Given the description of an element on the screen output the (x, y) to click on. 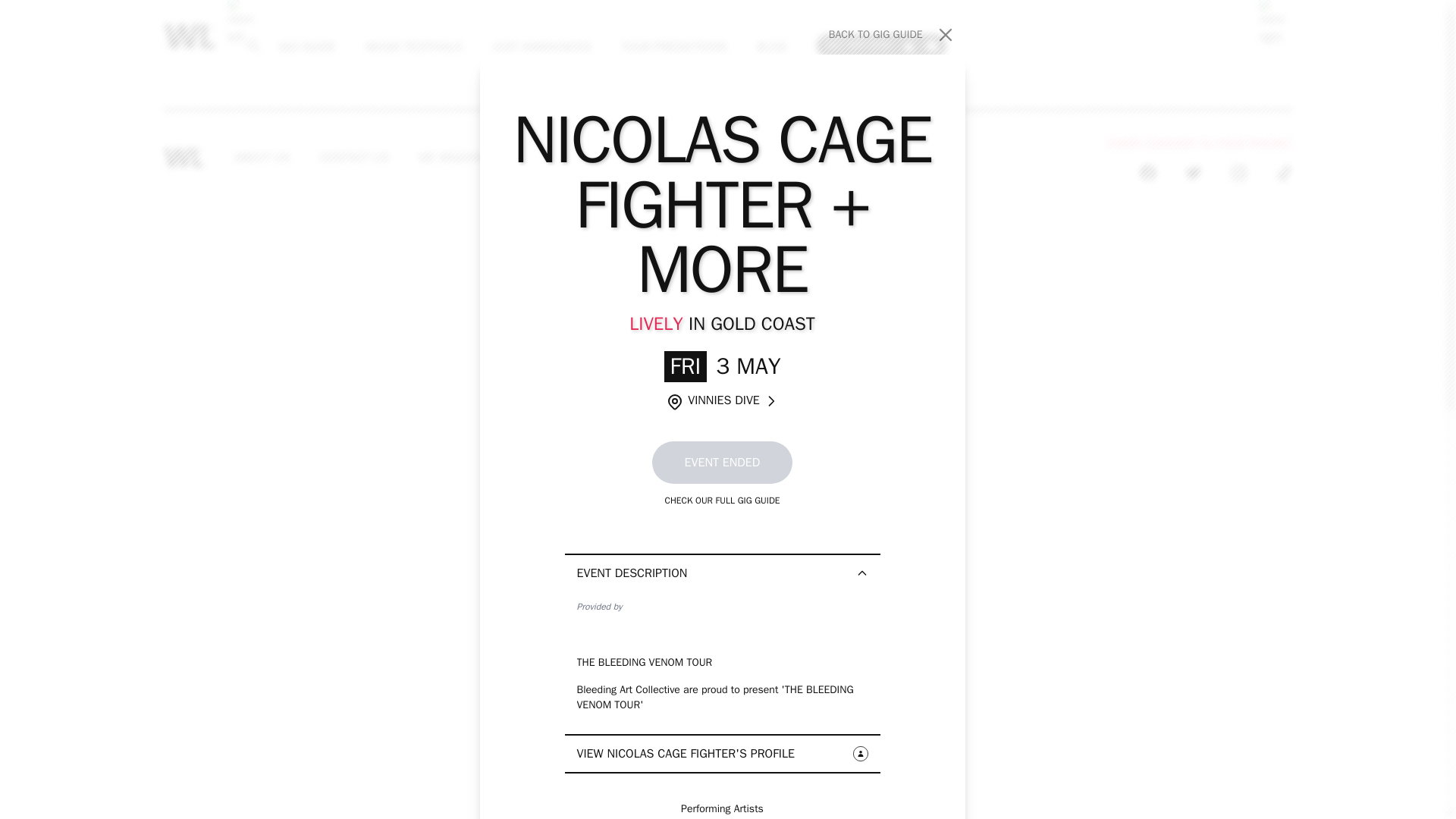
CONTACT US (892, 34)
GET APP NOW (354, 157)
ABOUT US (881, 44)
MARKETING AGENCY (261, 157)
MUSIC FESTIVALS (768, 157)
TOUR PREDICTIONS (413, 45)
WE MISSING A GIG? (673, 45)
GIG GUIDE (472, 157)
JUST ANNOUNCED (306, 45)
ADVERTISE YOUR TOUR (541, 45)
BLOG (619, 157)
